Given the description of an element on the screen output the (x, y) to click on. 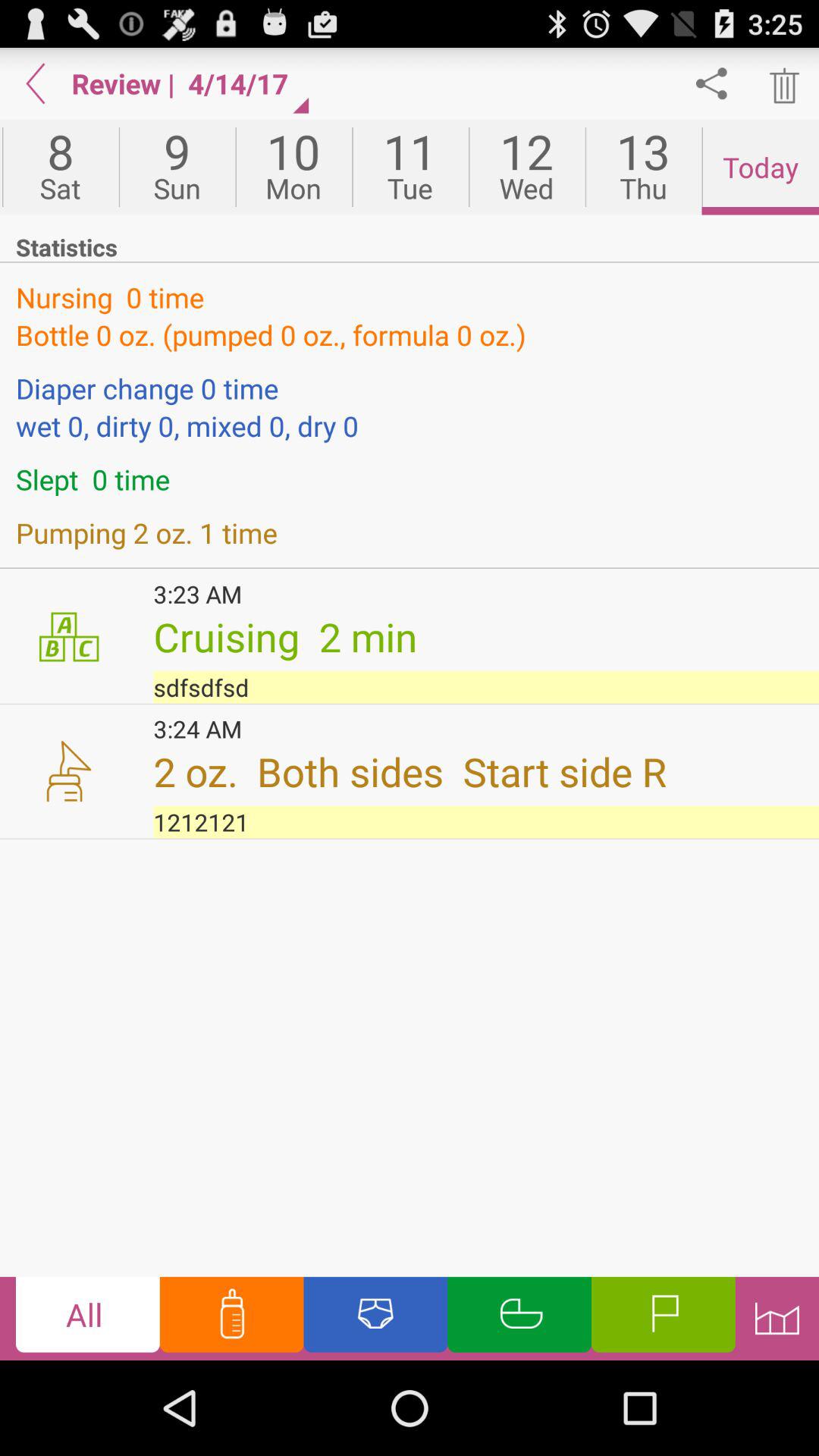
share button (711, 83)
